Given the description of an element on the screen output the (x, y) to click on. 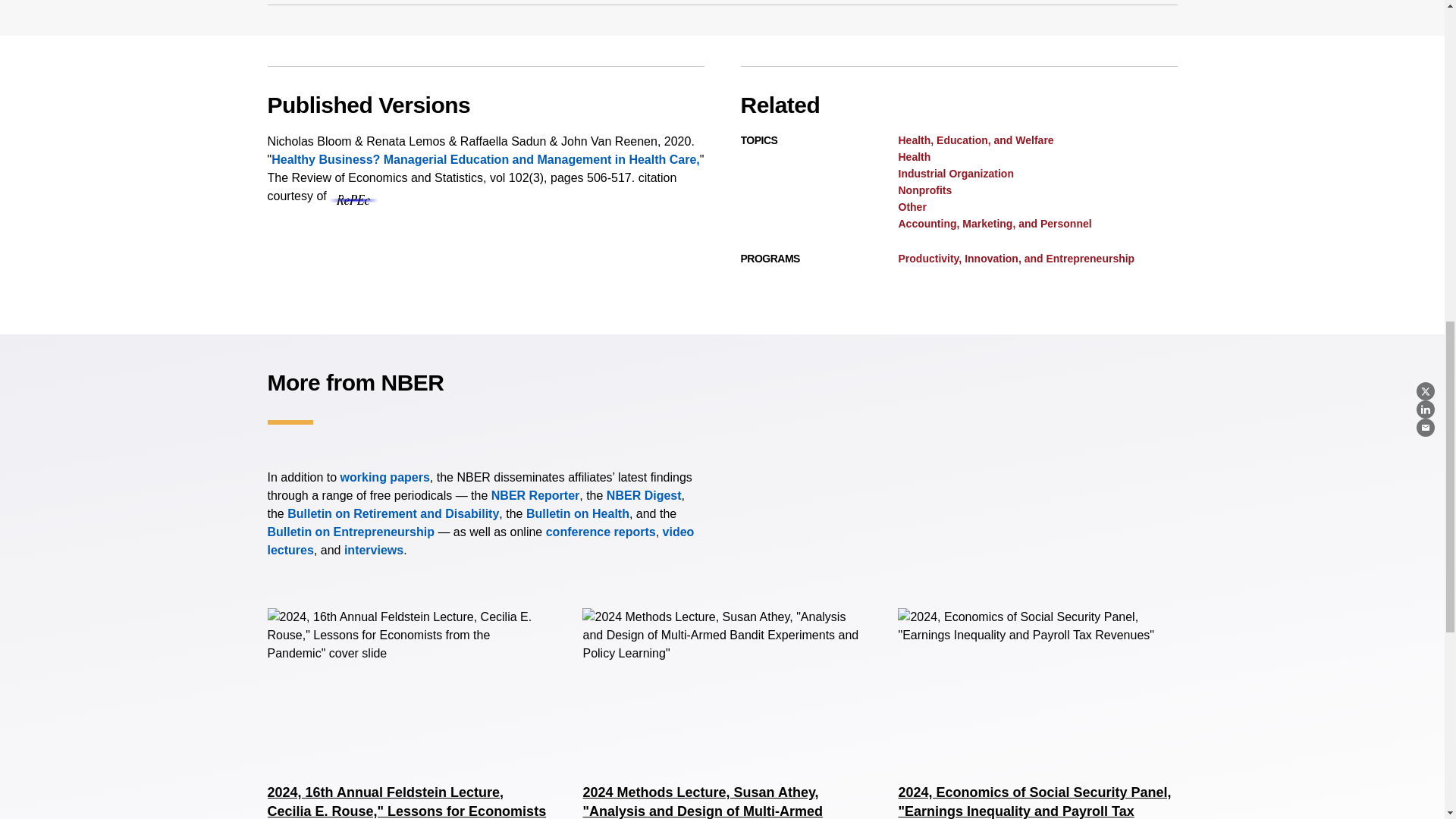
Lectures (480, 540)
Conferences (601, 531)
Working Papers (384, 477)
Research Spotlights (373, 549)
